Given the description of an element on the screen output the (x, y) to click on. 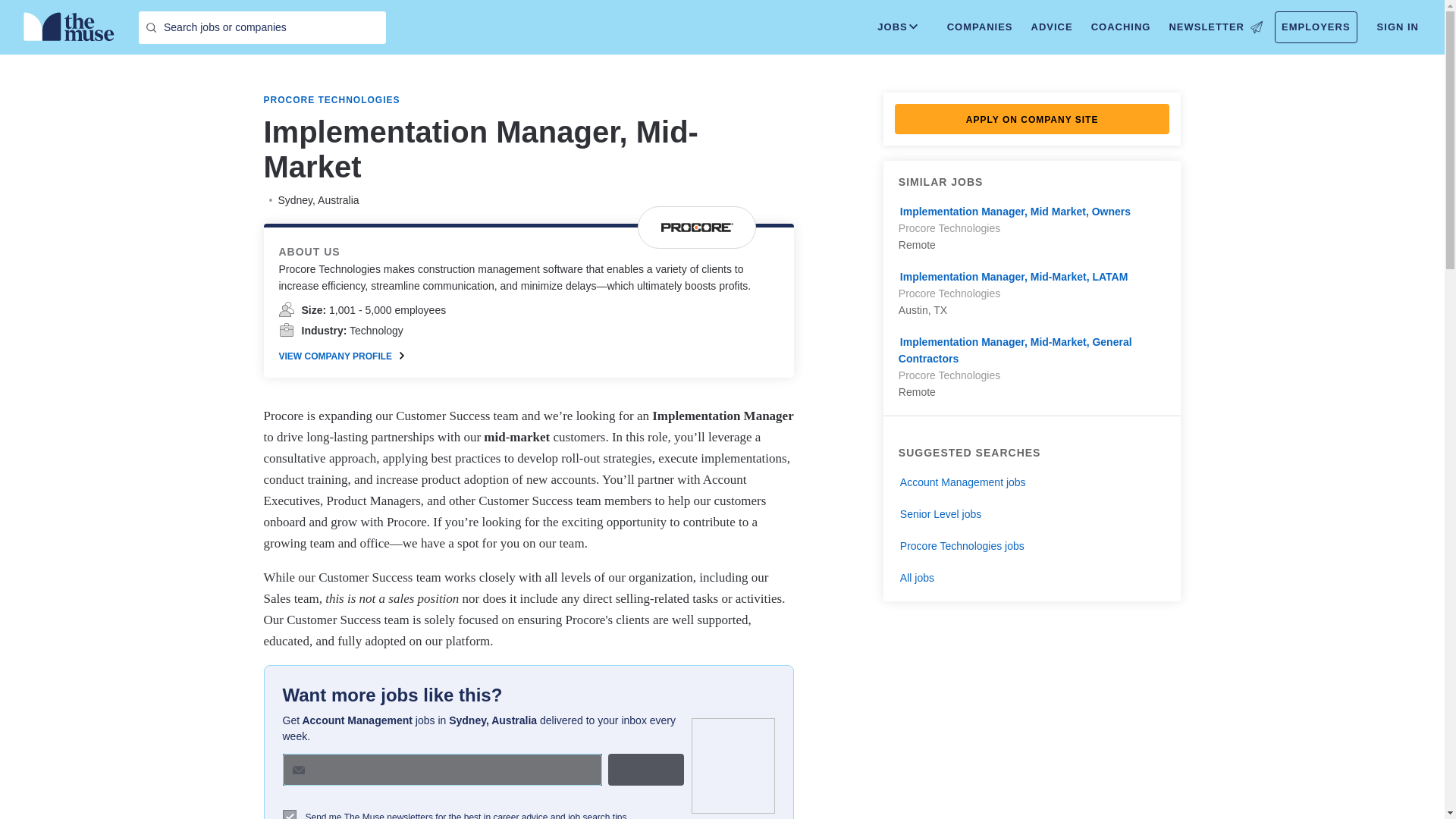
ADVICE (1051, 27)
COACHING (1120, 27)
NEWSLETTER (1214, 27)
SIGN IN (1398, 27)
EMPLOYERS (1315, 27)
PROCORE TECHNOLOGIES (331, 100)
COMPANIES (979, 27)
VIEW COMPANY PROFILE (341, 356)
